Given the description of an element on the screen output the (x, y) to click on. 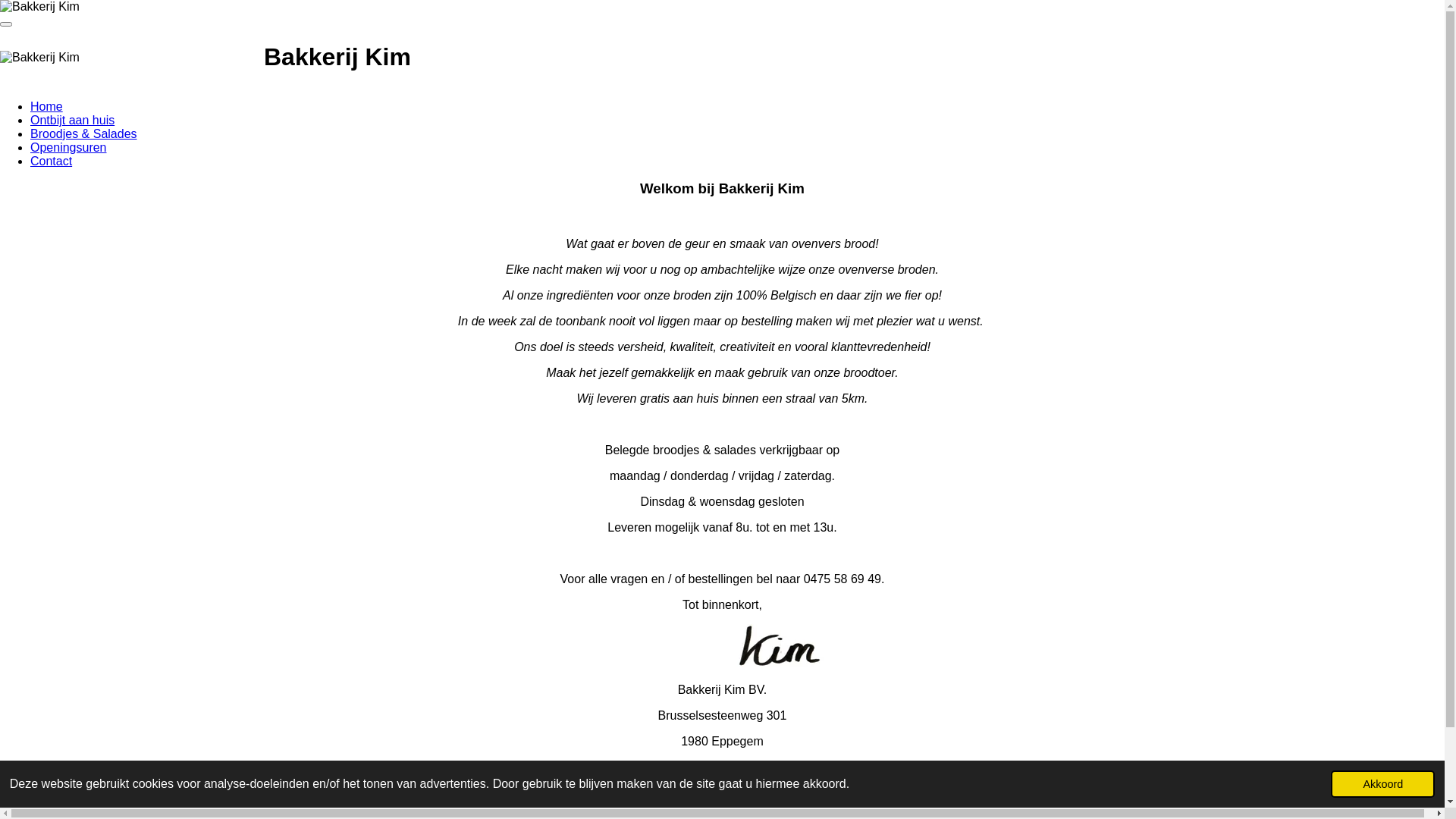
info@bakkerijkim.be Element type: text (721, 766)
Broodjes & Salades Element type: text (83, 133)
Akkoord Element type: text (1382, 783)
Home Element type: text (46, 106)
Openingsuren Element type: text (68, 147)
Bakkerij Kim Element type: hover (39, 57)
Contact Element type: text (51, 160)
Bakkerij Kim Element type: hover (39, 6)
Ontbijt aan huis Element type: text (72, 119)
